Given the description of an element on the screen output the (x, y) to click on. 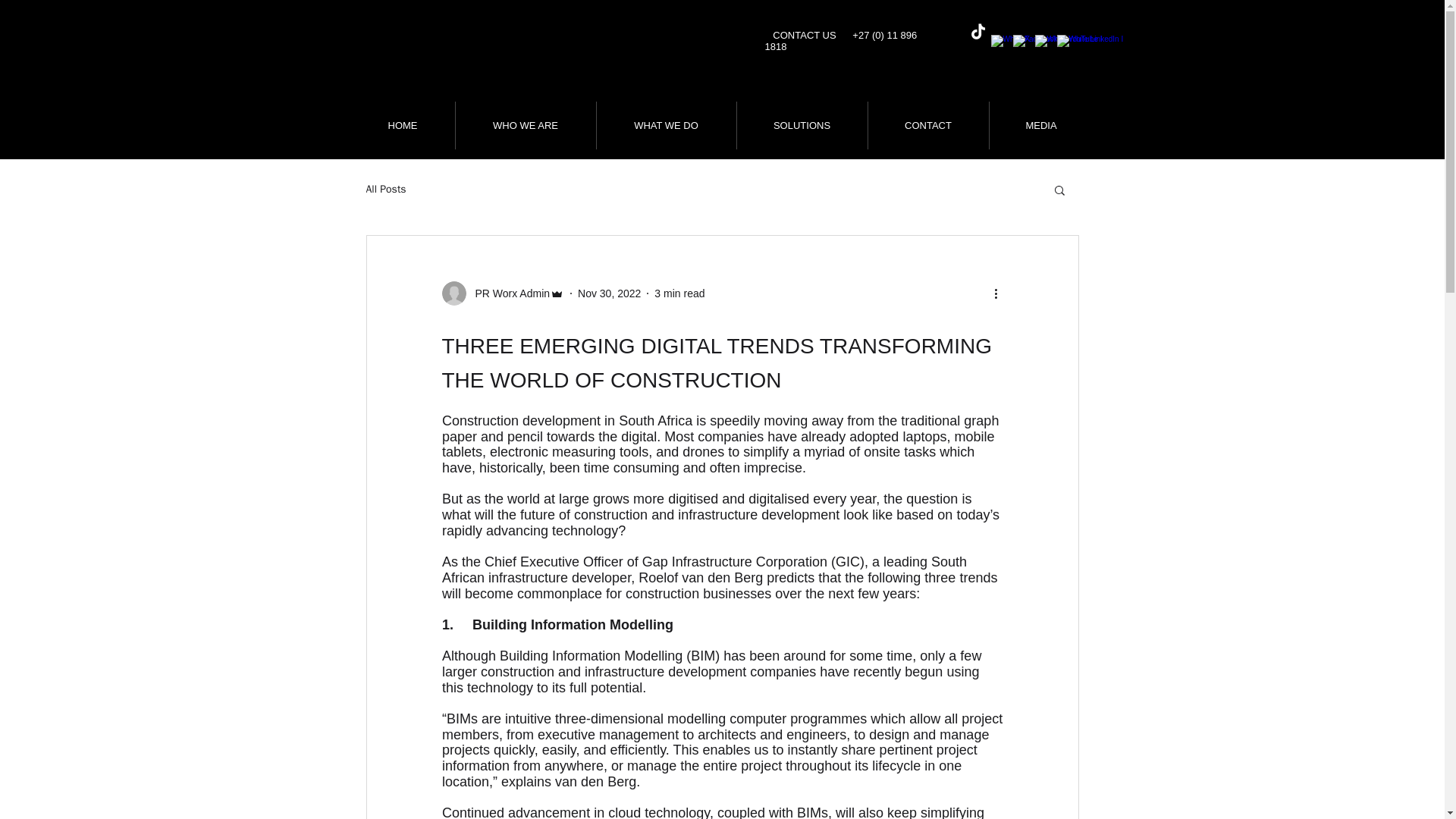
PR Worx Admin (507, 293)
MEDIA (1040, 125)
CONTACT (927, 125)
HOME (402, 125)
WHO WE ARE (524, 125)
SOLUTIONS (801, 125)
WHAT WE DO (665, 125)
CONTACT US (804, 34)
3 min read (678, 292)
PR Worx Admin (502, 293)
